Given the description of an element on the screen output the (x, y) to click on. 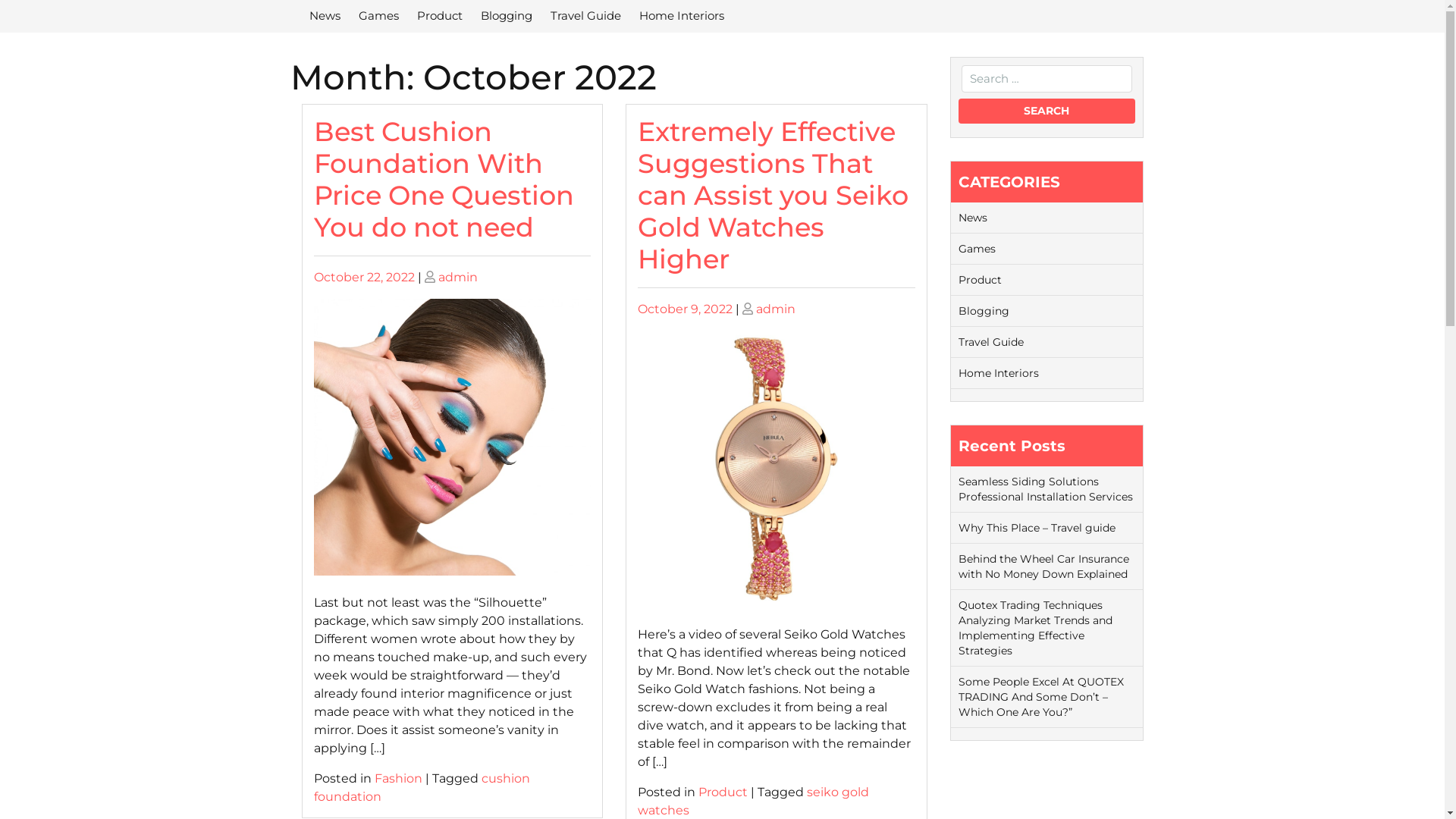
October 22, 2022 Element type: text (363, 276)
cushion foundation Element type: text (421, 787)
Home Interiors Element type: text (680, 16)
Behind the Wheel Car Insurance with No Money Down Explained Element type: text (1043, 566)
Home Interiors Element type: text (998, 372)
Blogging Element type: text (983, 310)
Blogging Element type: text (506, 16)
Fashion Element type: text (398, 778)
Travel Guide Element type: text (585, 16)
Games Element type: text (976, 248)
Seamless Siding Solutions Professional Installation Services Element type: text (1045, 488)
Games Element type: text (377, 16)
News Element type: text (324, 16)
admin Element type: text (457, 276)
News Element type: text (972, 217)
Product Element type: text (439, 16)
seiko gold watches Element type: text (753, 800)
admin Element type: text (775, 308)
Travel Guide Element type: text (990, 341)
Search Element type: text (1046, 110)
October 9, 2022 Element type: text (684, 308)
Product Element type: text (722, 791)
Product Element type: text (979, 279)
